Given the description of an element on the screen output the (x, y) to click on. 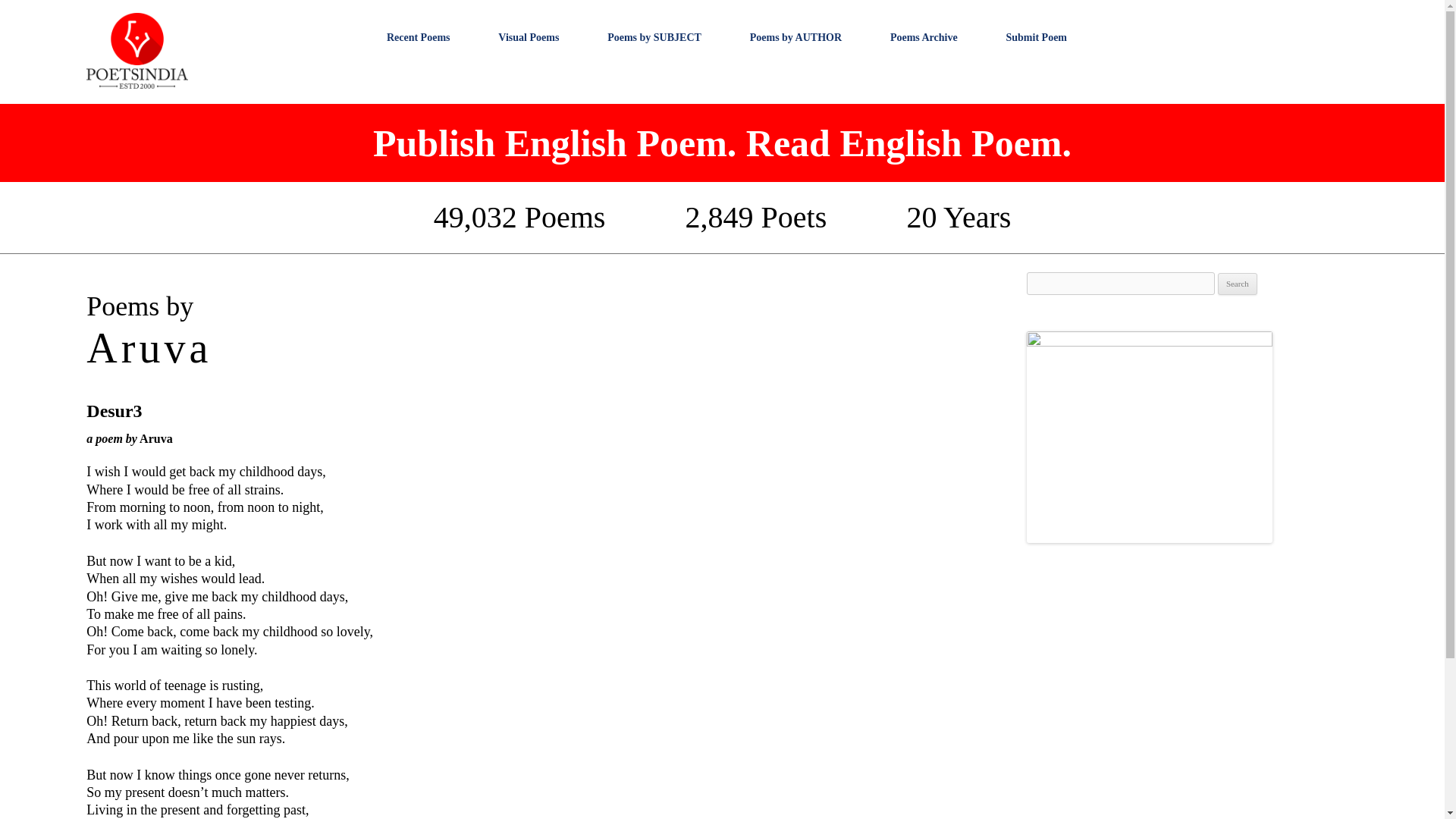
Recent Poems (418, 37)
Submit Poem (1036, 37)
Poems by AUTHOR (795, 37)
Visual Poems (528, 37)
Search (1237, 283)
Poems Archive (923, 37)
Search (1237, 283)
Poems by SUBJECT (654, 37)
